Given the description of an element on the screen output the (x, y) to click on. 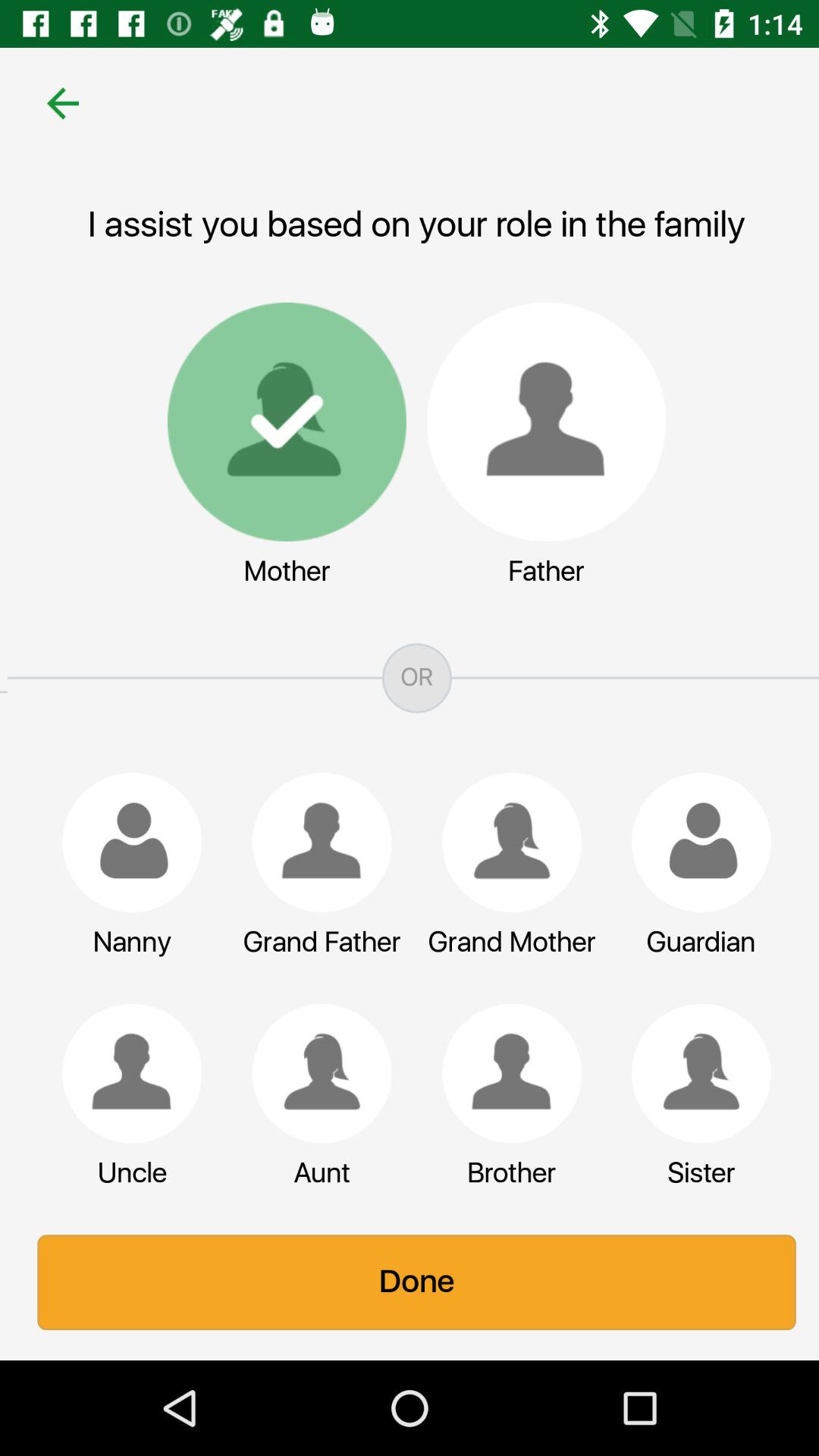
press icon at the top left corner (55, 103)
